Given the description of an element on the screen output the (x, y) to click on. 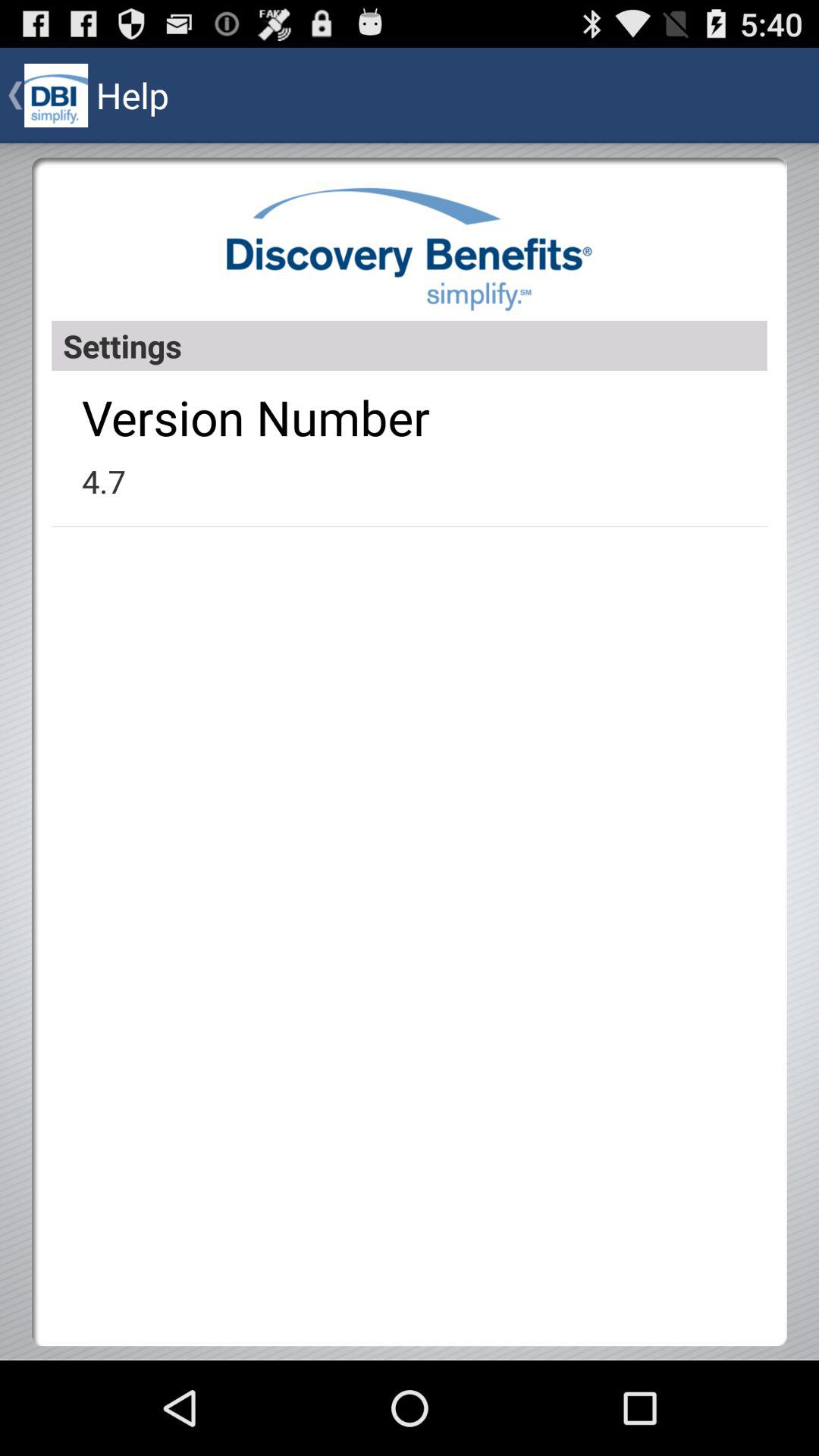
swipe until settings (409, 345)
